Given the description of an element on the screen output the (x, y) to click on. 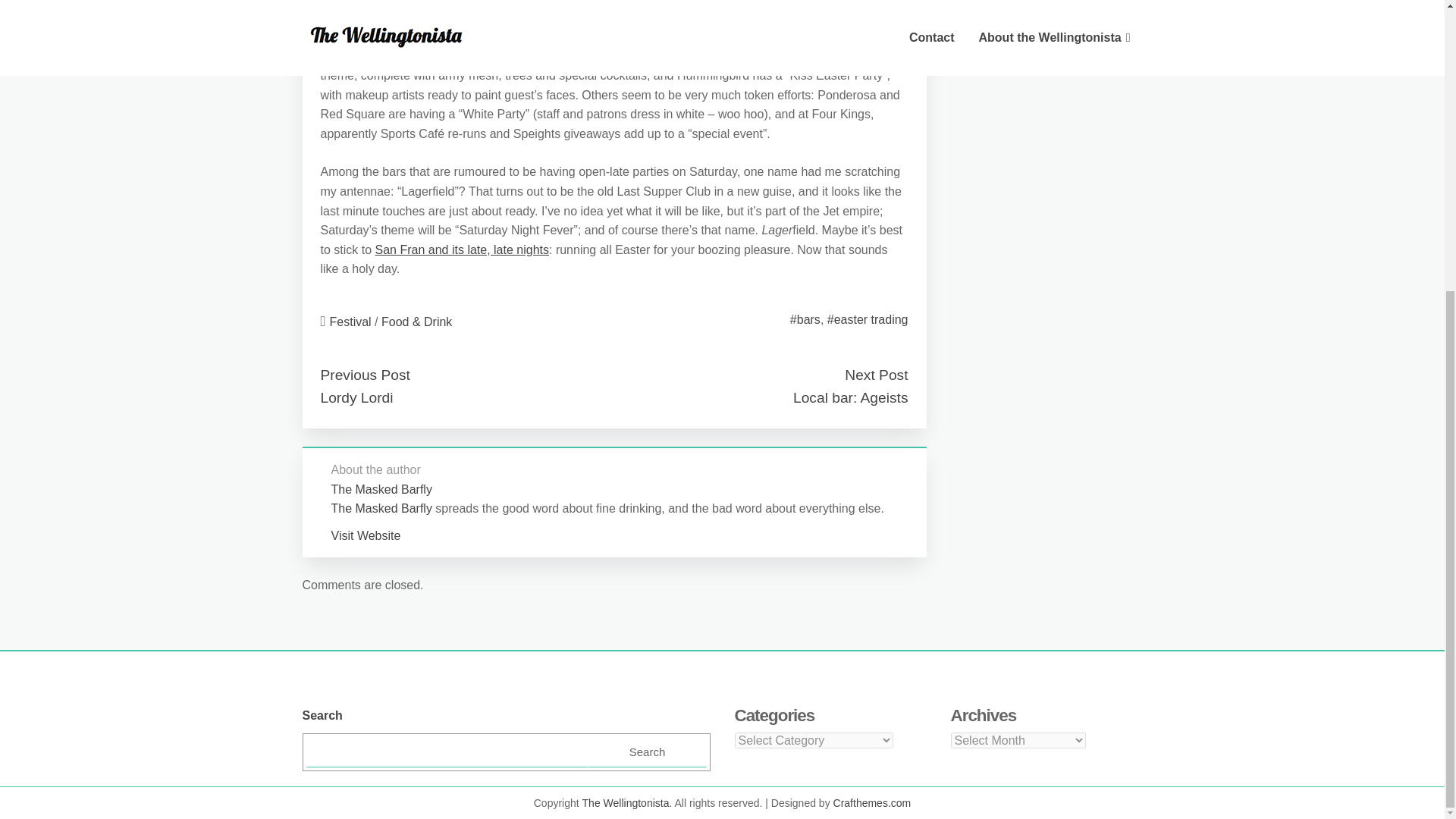
Visit Website (365, 535)
Next Post (875, 374)
Local bar: Ageists (850, 397)
The Masked Barfly (380, 489)
Lordy Lordi (356, 397)
San Fran and its late, late nights (461, 249)
The Wellingtonista (625, 802)
Festival (350, 321)
The Masked Barfly (380, 508)
Search (647, 752)
